Given the description of an element on the screen output the (x, y) to click on. 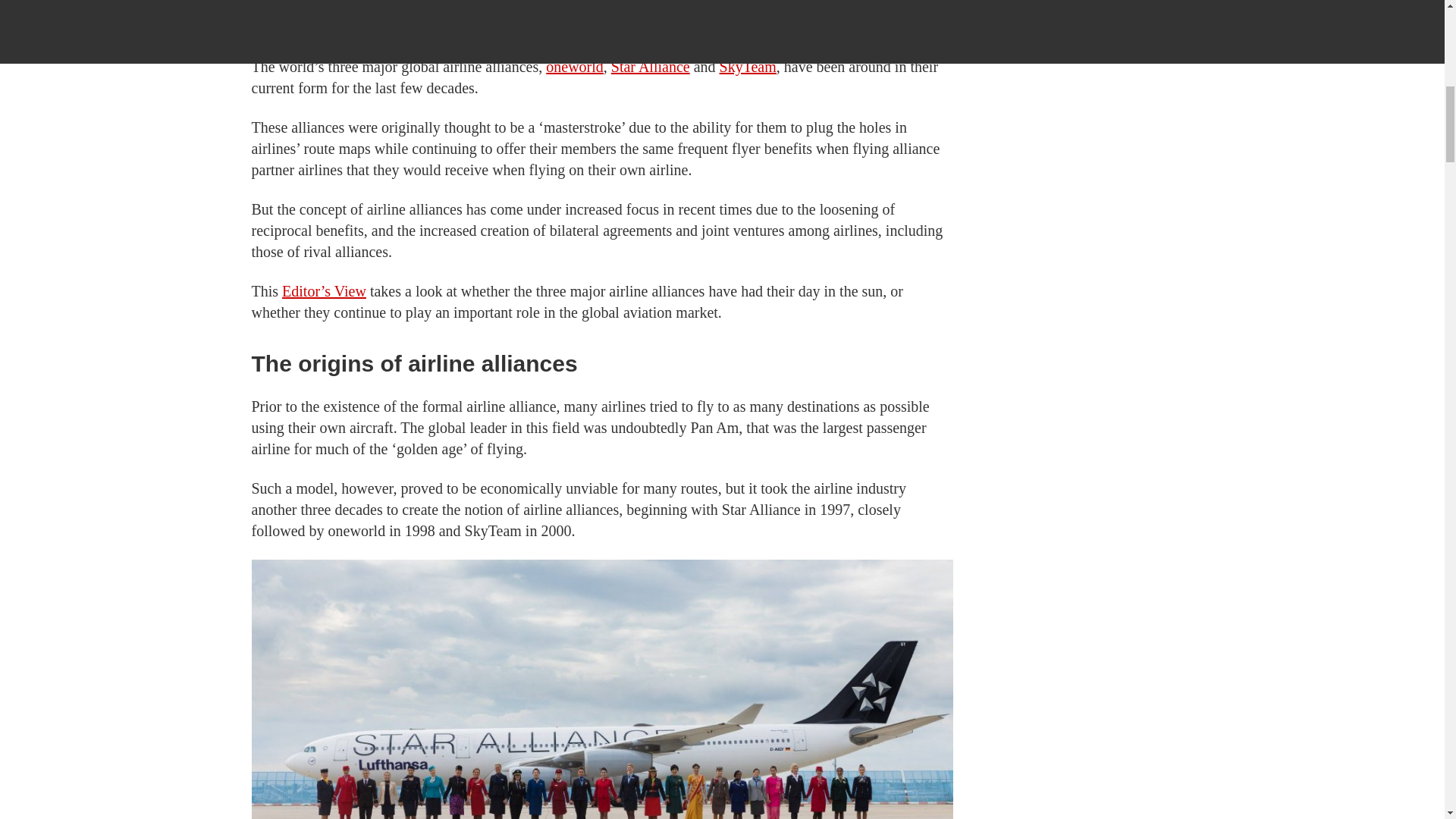
oneworld (575, 66)
Star Alliance (650, 66)
SkyTeam (747, 66)
